Given the description of an element on the screen output the (x, y) to click on. 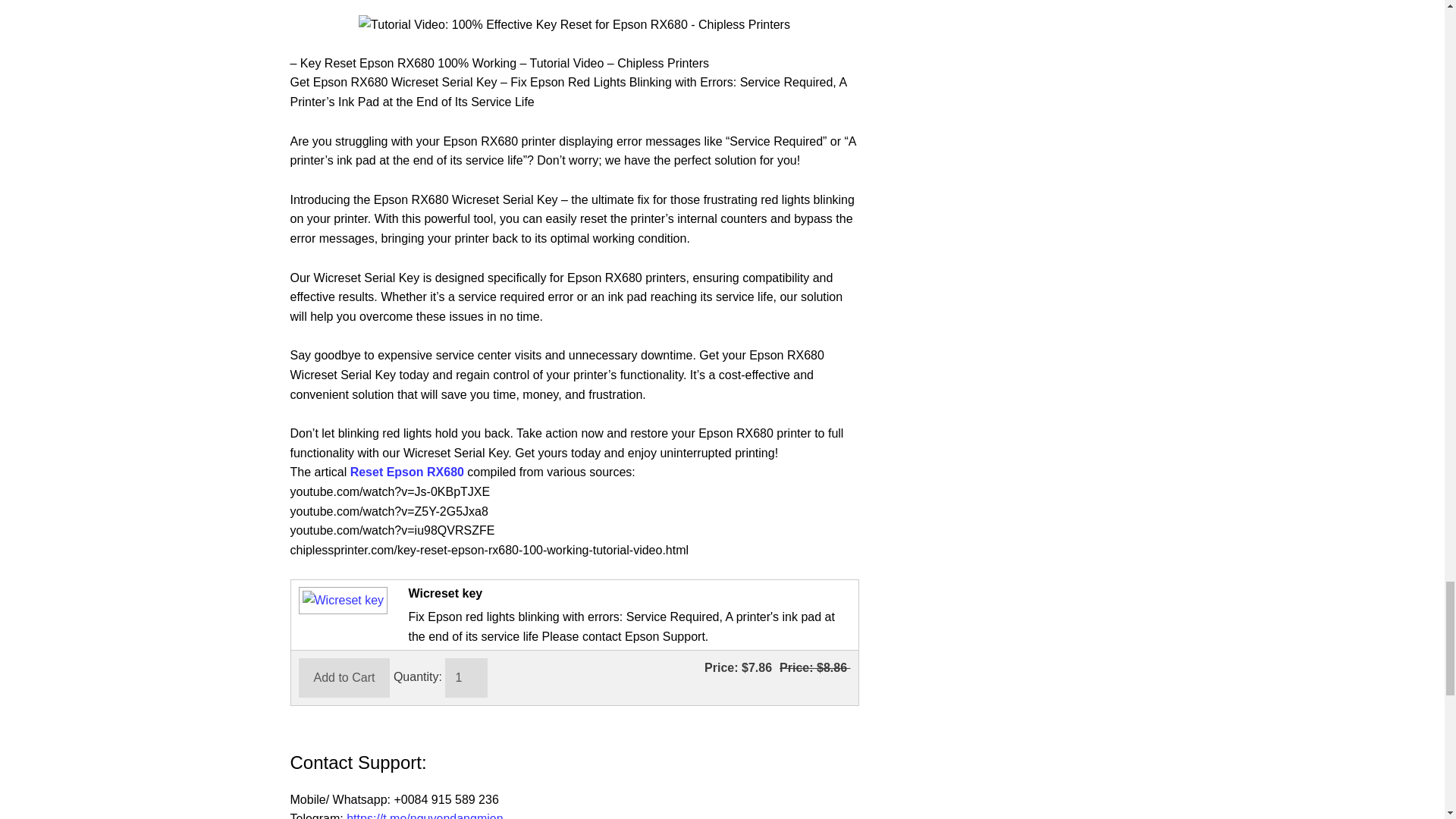
Add to Cart (344, 677)
1 (466, 677)
Add to Cart (344, 677)
Reset Epson RX680 (407, 472)
